Given the description of an element on the screen output the (x, y) to click on. 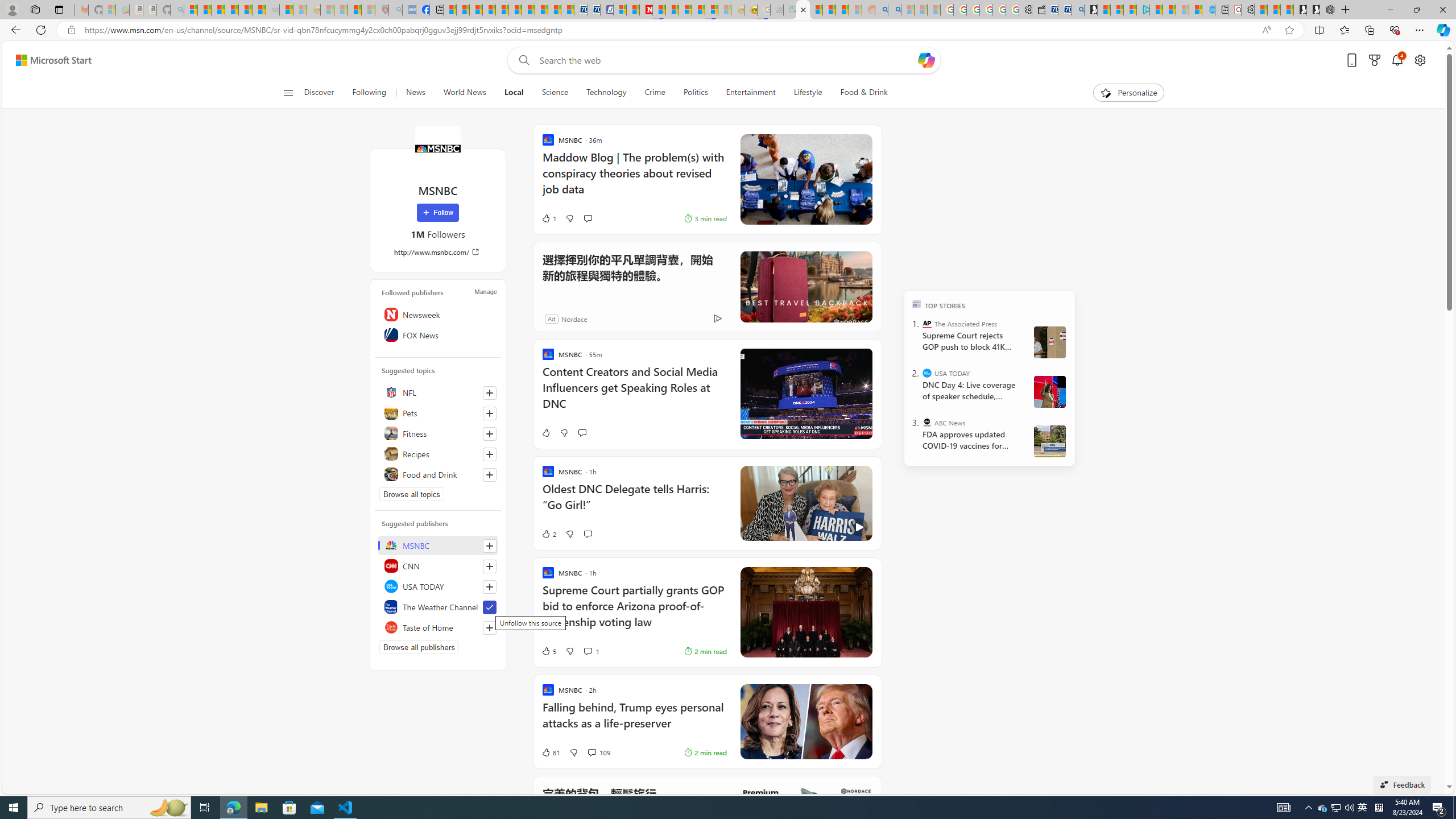
Utah sues federal government - Search (894, 9)
Follow (437, 212)
